Given the description of an element on the screen output the (x, y) to click on. 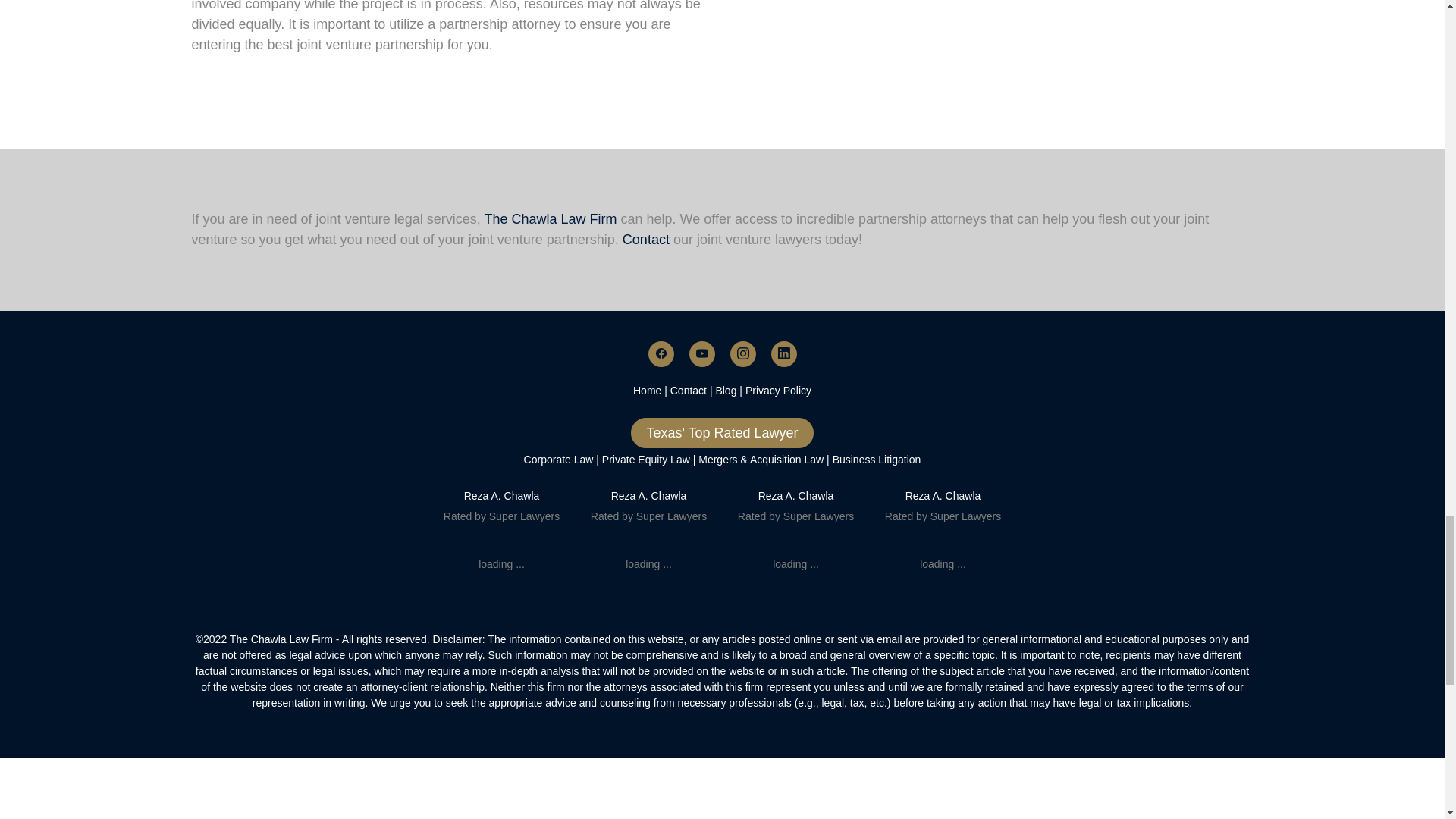
Privacy Policy (777, 390)
Reza A. Chawla (649, 495)
Reza A. Chawla (796, 495)
Texas' Top Rated Lawyer (721, 432)
Home (648, 390)
Private Equity Law (646, 459)
Blog (725, 390)
Contact (687, 390)
